Given the description of an element on the screen output the (x, y) to click on. 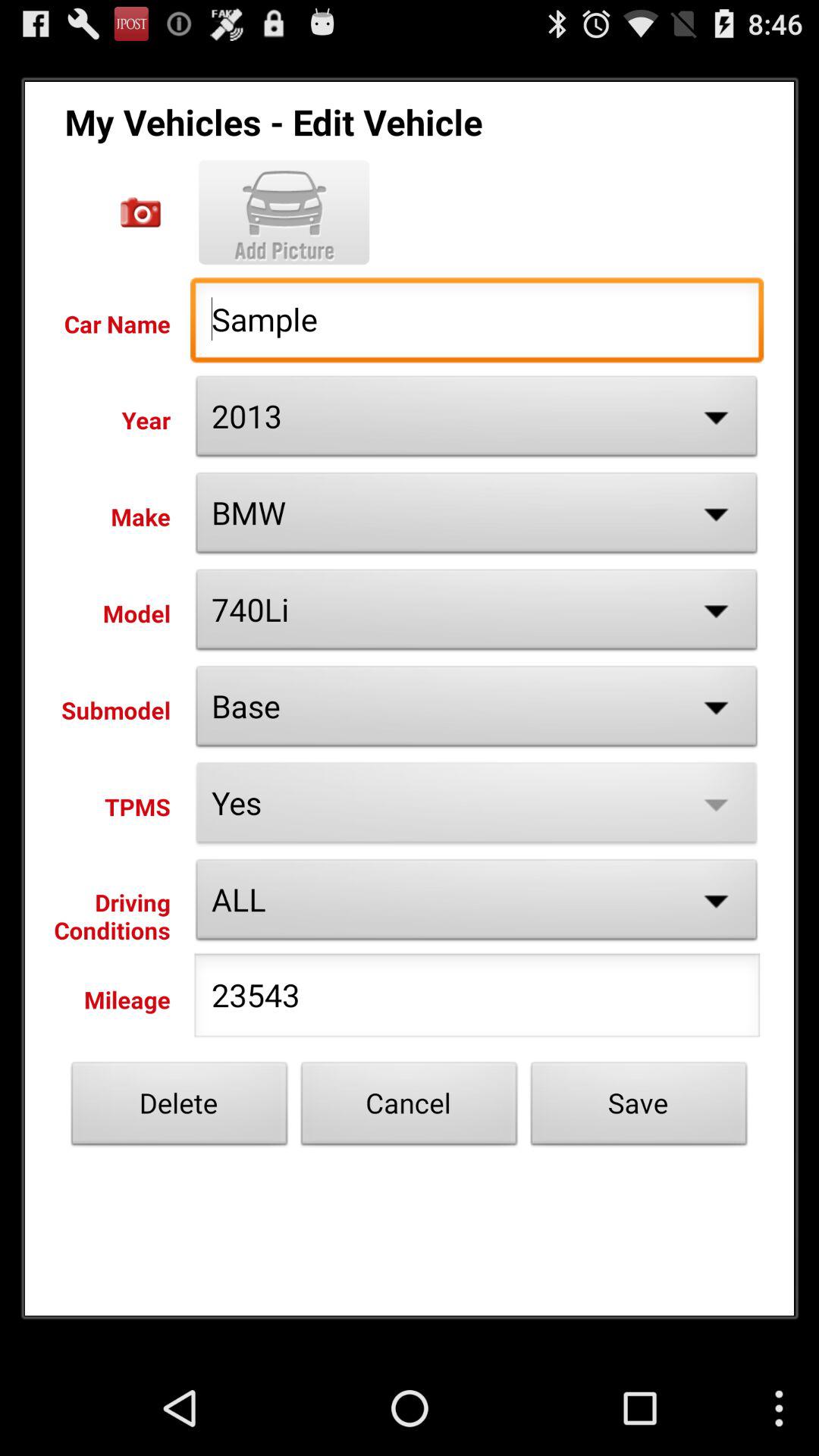
add photo (140, 212)
